Given the description of an element on the screen output the (x, y) to click on. 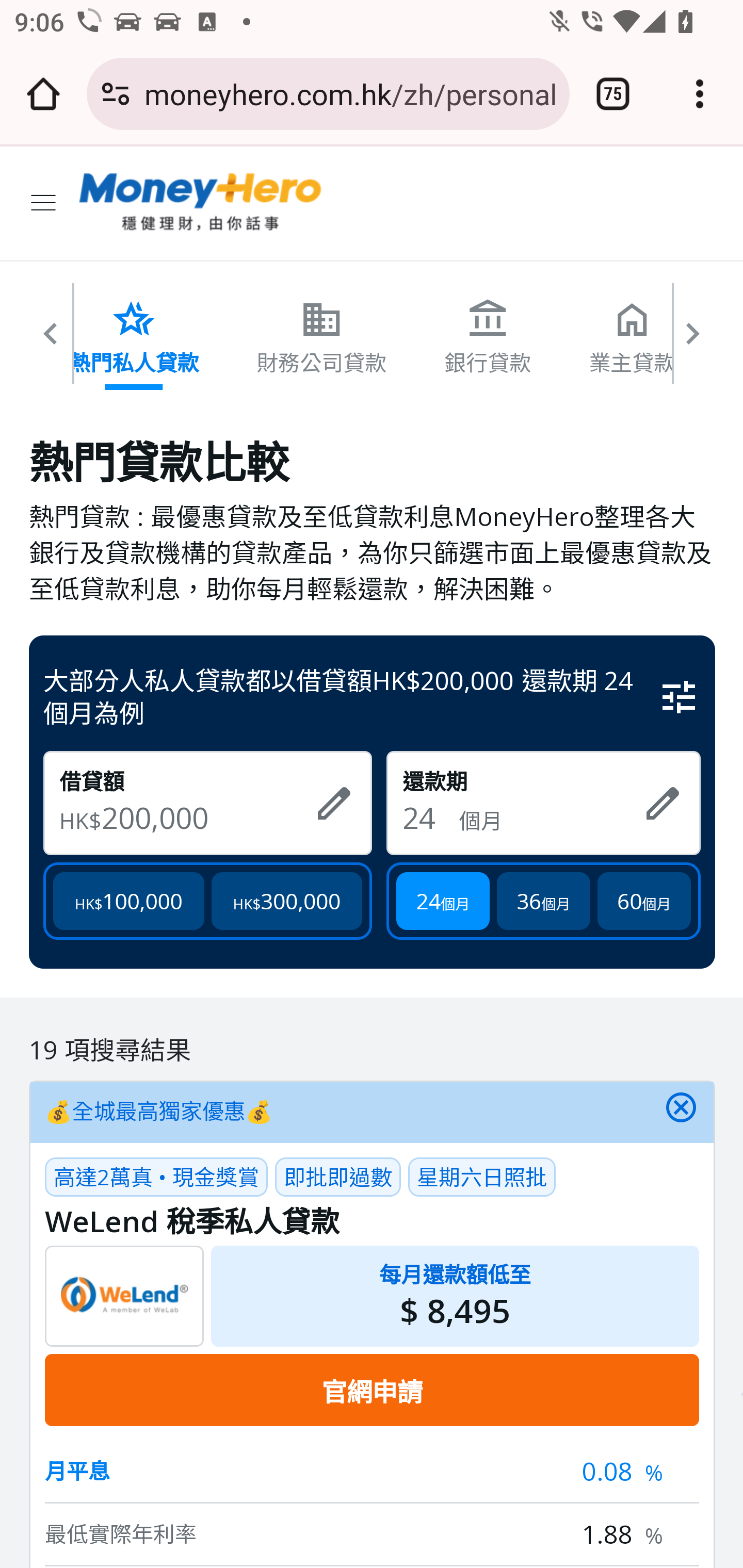
Open the home page (43, 93)
Connection is secure (115, 93)
Switch or close tabs (612, 93)
Customize and control Google Chrome (699, 93)
MH_Logo_ZH_2021-1 (201, 203)
Previous slide (50, 341)
hotel_class 熱門私人貸款 (133, 336)
business 財務公司貸款 (321, 336)
account_balance 銀行貸款 (488, 336)
home 業主貸款 (632, 336)
Next slide (693, 341)
tune (679, 695)
200,000 (200, 816)
24 (430, 816)
cancel (681, 1112)
官網申請 (371, 1389)
